Given the description of an element on the screen output the (x, y) to click on. 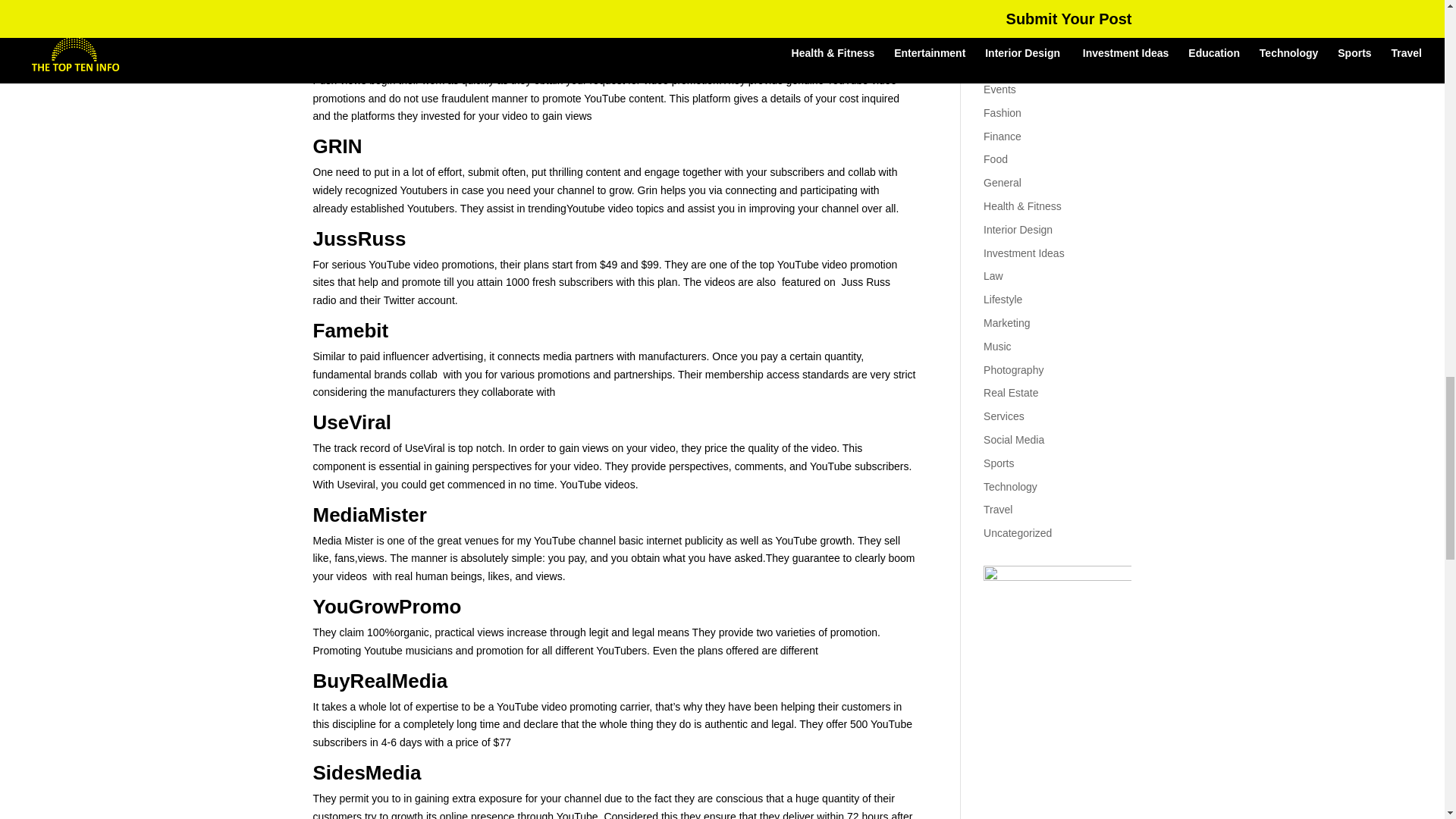
Digital Marketing (1023, 1)
Education (1007, 19)
Events (1000, 89)
Entertainment (1016, 65)
Electronics (1009, 42)
